Given the description of an element on the screen output the (x, y) to click on. 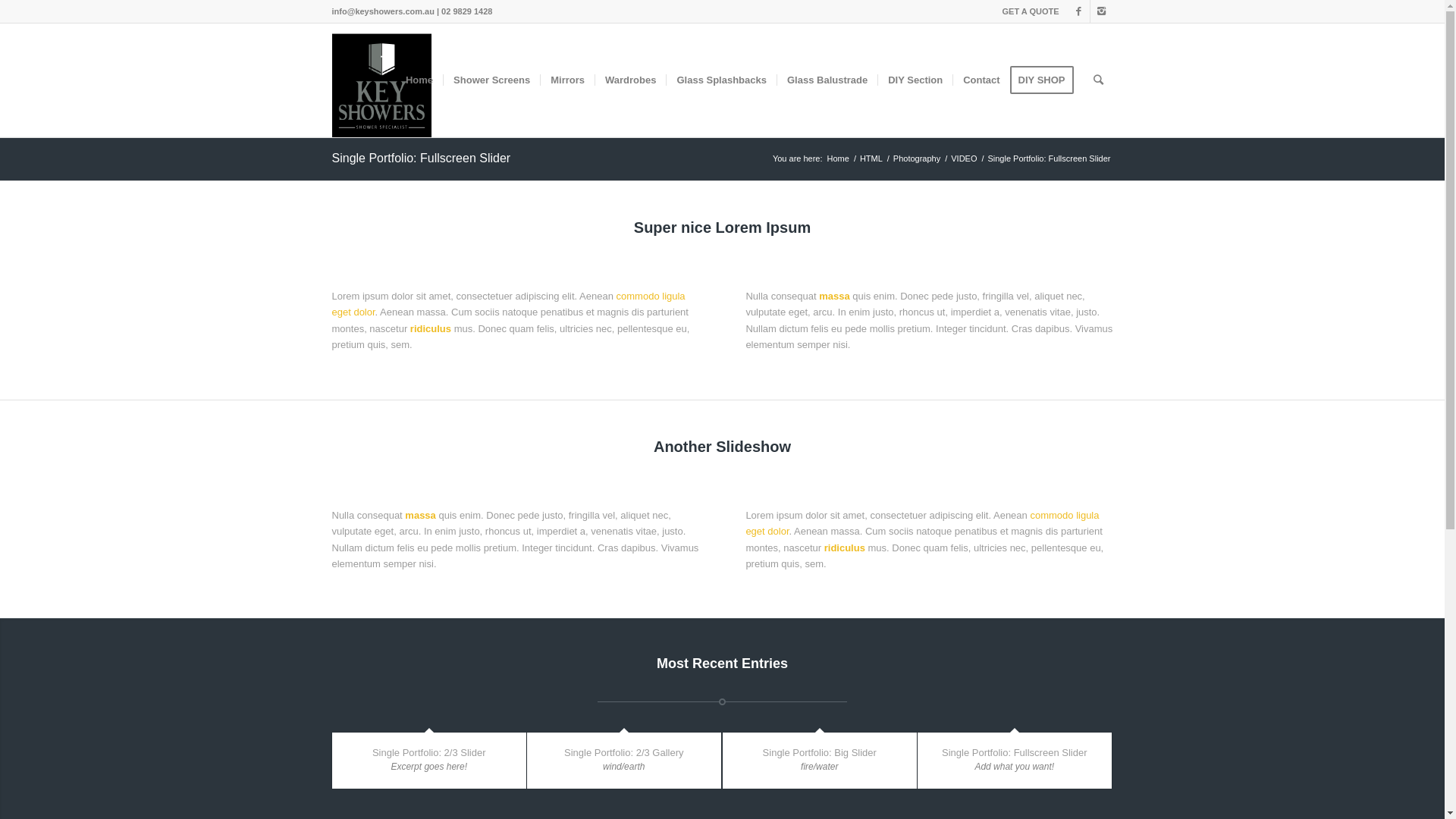
Home Element type: text (838, 158)
Mirrors Element type: text (566, 80)
DIY SHOP Element type: text (1046, 80)
Glass Splashbacks Element type: text (720, 80)
Shower Screens Element type: text (490, 80)
Facebook Element type: hover (1078, 11)
commodo ligula eget dolor Element type: text (508, 303)
HTML Element type: text (870, 158)
Single Portfolio: Big Slider Element type: text (819, 752)
Contact Element type: text (980, 80)
Single Portfolio: 2/3 Slider Element type: text (429, 752)
Single Portfolio: Fullscreen Slider Element type: text (1013, 752)
Single Portfolio: 2/3 Gallery Element type: text (624, 752)
Glass Balustrade Element type: text (826, 80)
Single Portfolio: Fullscreen Slider Element type: text (421, 157)
Instagram Element type: hover (1101, 11)
Wardrobes Element type: text (629, 80)
GET A QUOTE Element type: text (1030, 11)
VIDEO Element type: text (963, 158)
commodo ligula eget dolor Element type: text (921, 522)
Photography Element type: text (916, 158)
Home Element type: text (418, 80)
DIY Section Element type: text (914, 80)
